Given the description of an element on the screen output the (x, y) to click on. 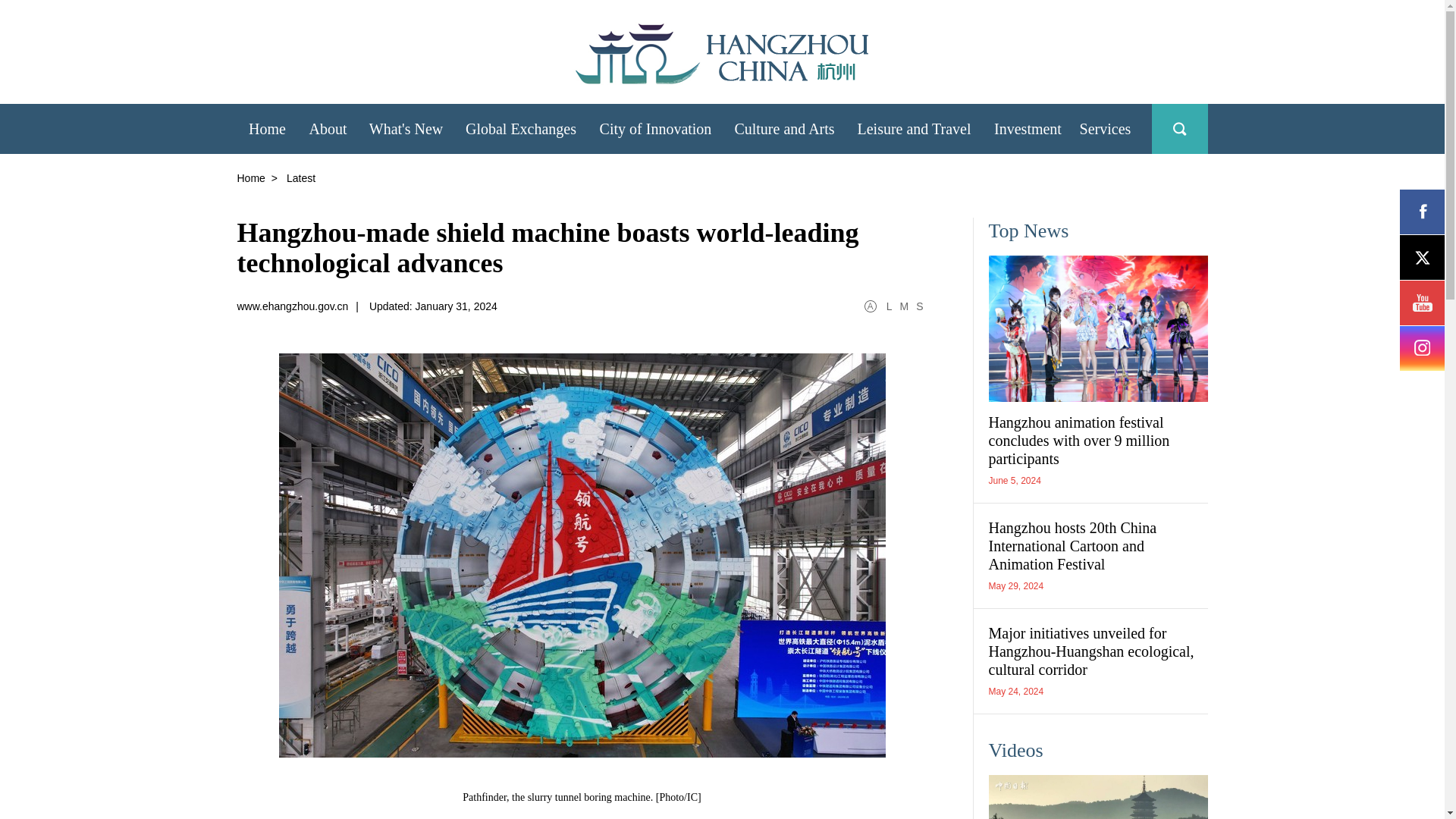
Home (266, 127)
Leisure and Travel (913, 127)
What's New (405, 127)
About (327, 127)
Culture and Arts (784, 127)
City of Innovation (655, 127)
Global Exchanges (520, 127)
